Given the description of an element on the screen output the (x, y) to click on. 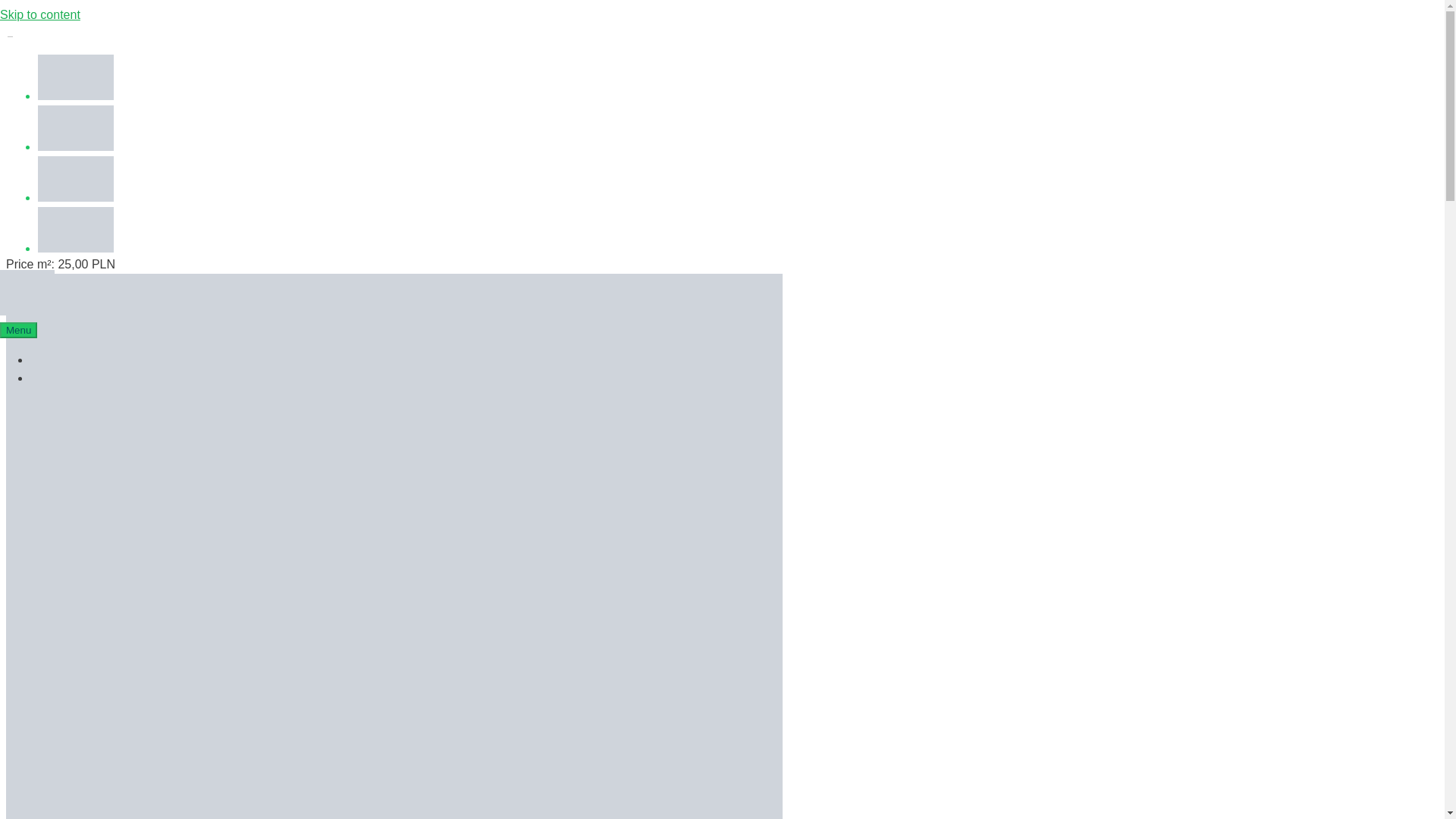
Skip to content (40, 14)
Menu (18, 330)
Skip to content (40, 14)
